Given the description of an element on the screen output the (x, y) to click on. 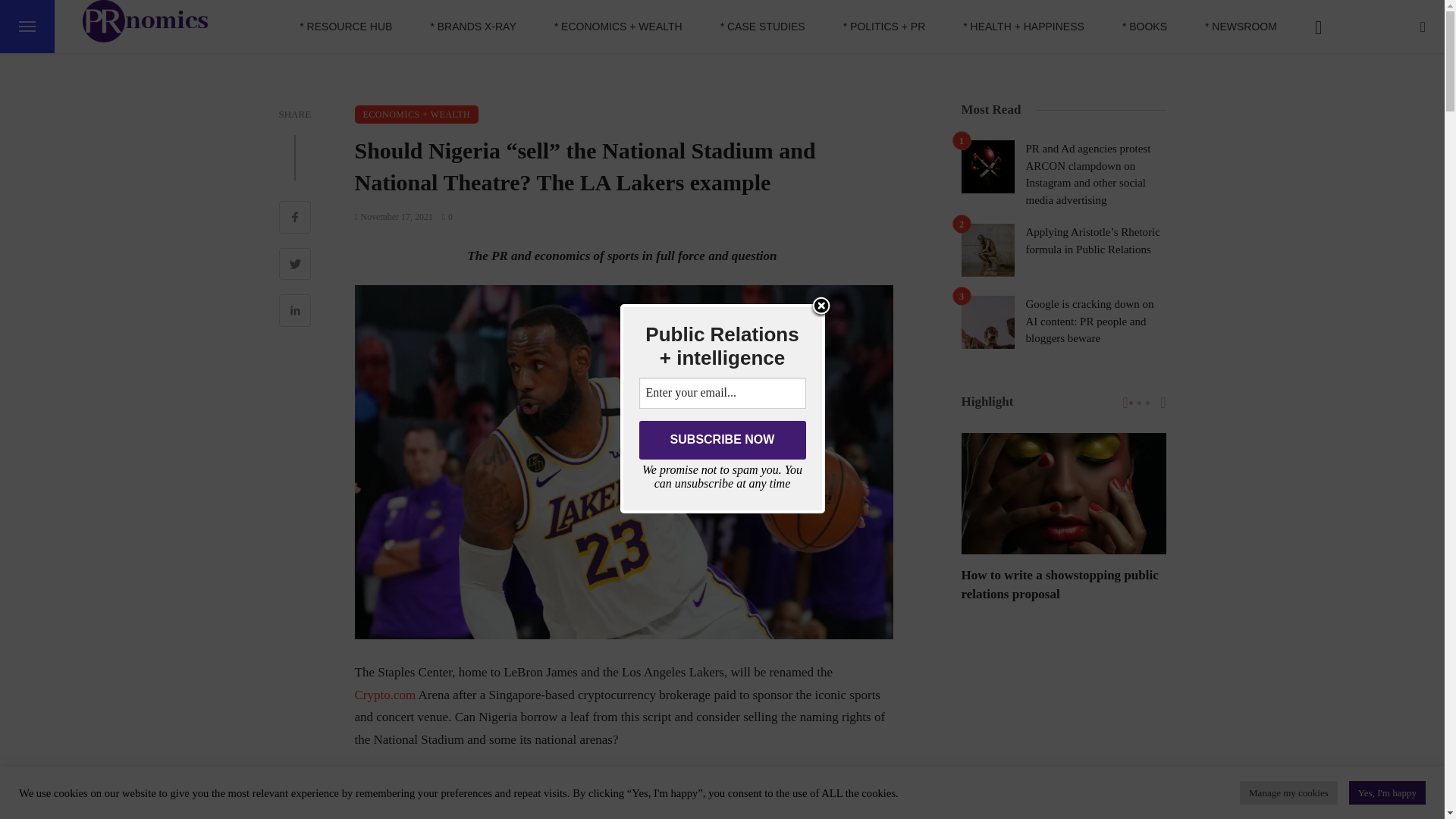
Crypto.com (855, 784)
Take Action Now! (180, 17)
Share on Linkedin (295, 312)
Share on Twitter (295, 266)
Subscribe Now (722, 439)
0 (447, 216)
November 17, 2021 at 8:59 pm (394, 216)
0 Comments (447, 216)
Crypto.com (385, 694)
Share on Facebook (295, 218)
